Given the description of an element on the screen output the (x, y) to click on. 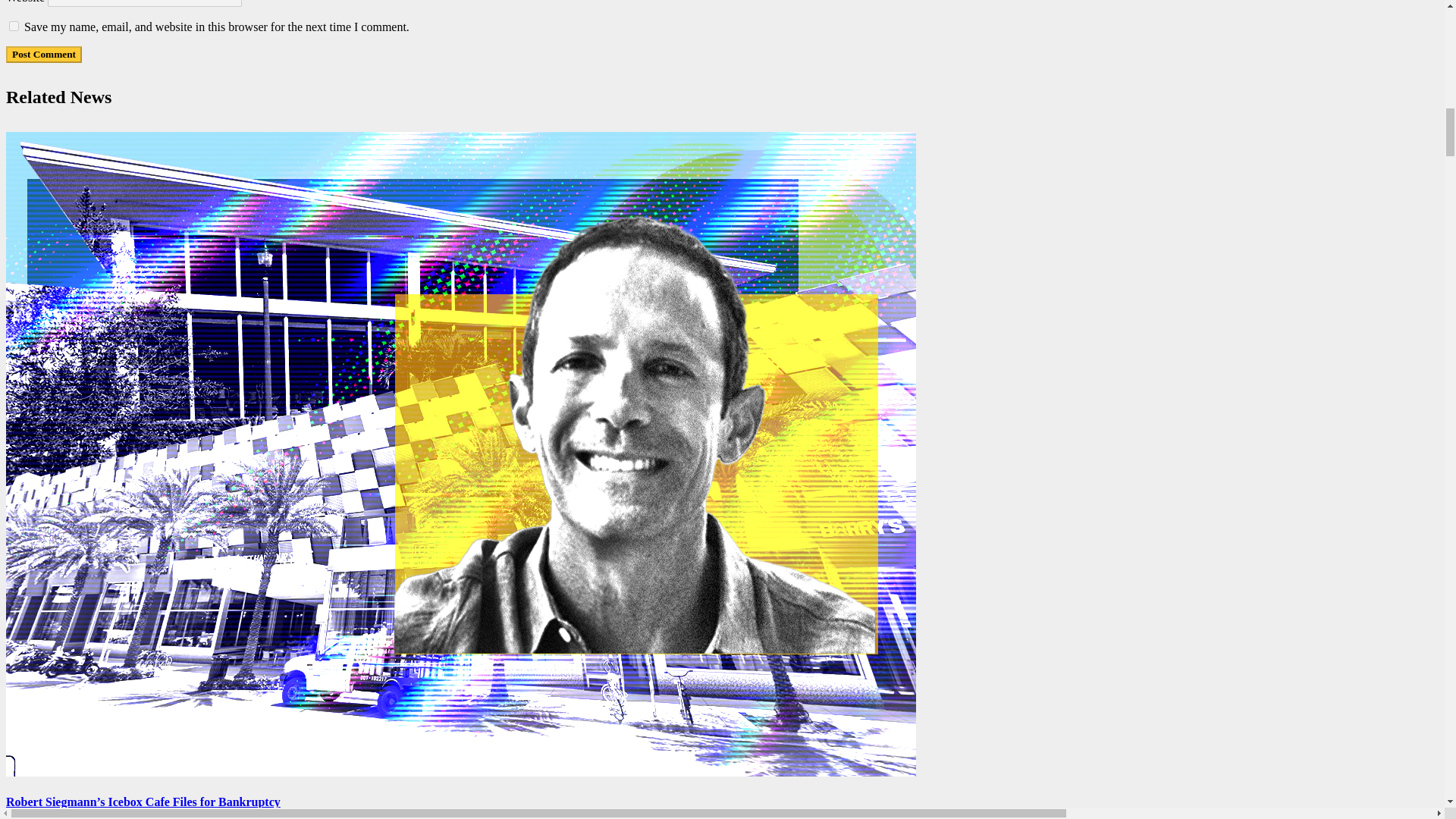
Post Comment (43, 54)
Post Comment (43, 54)
yes (13, 26)
